Given the description of an element on the screen output the (x, y) to click on. 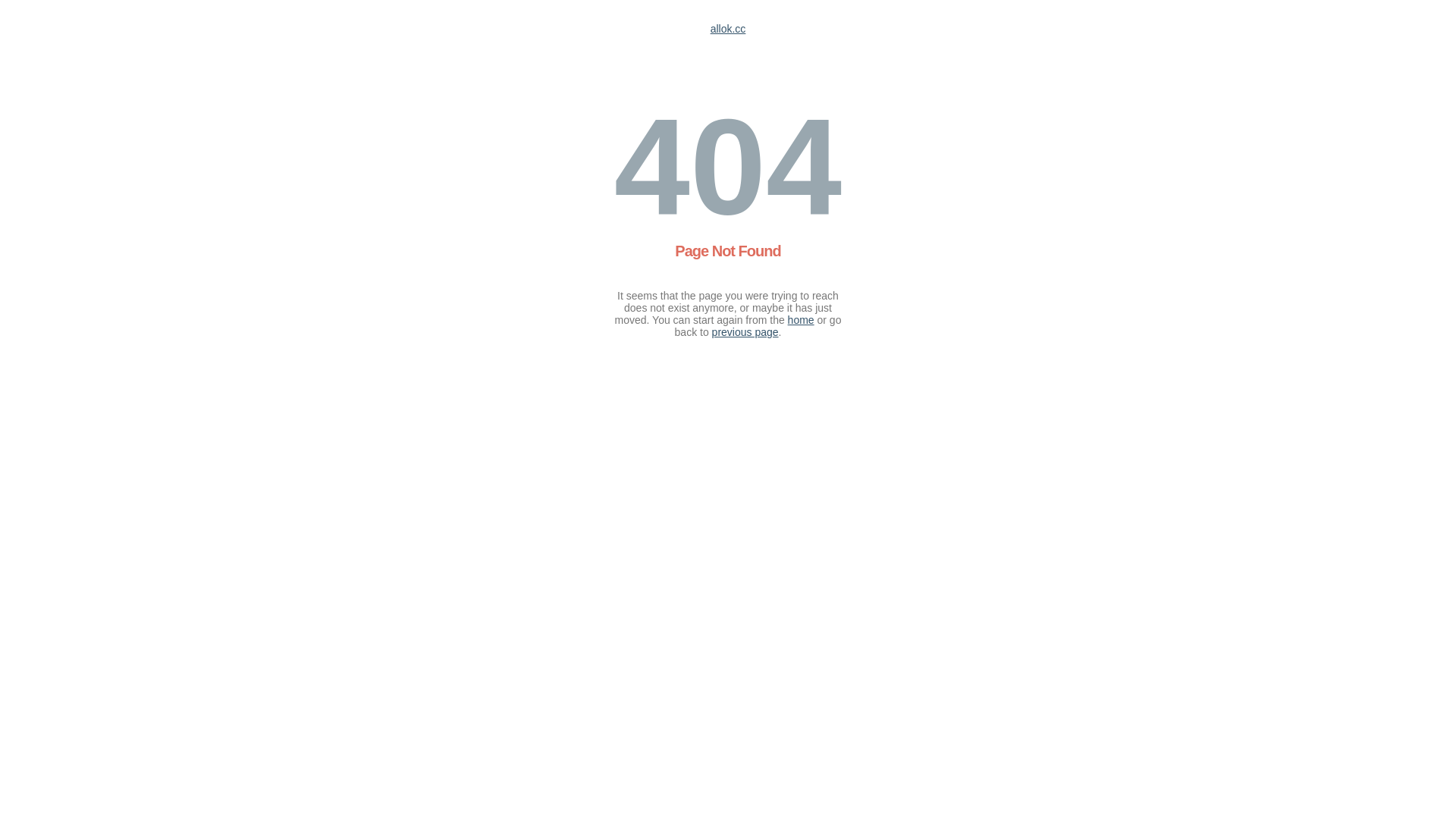
allok.cc Element type: text (728, 28)
previous page Element type: text (745, 332)
home Element type: text (800, 319)
